Given the description of an element on the screen output the (x, y) to click on. 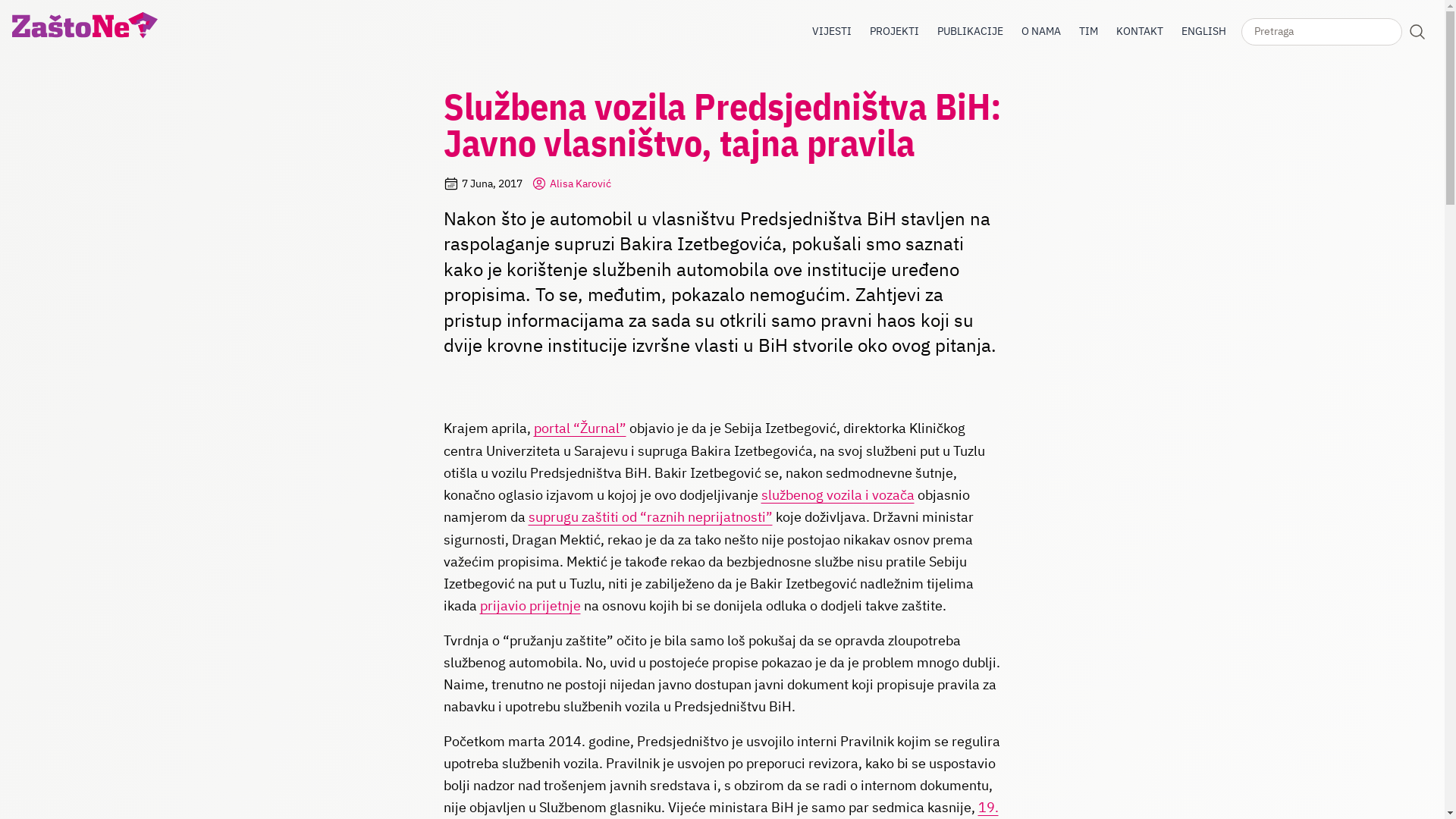
PUBLIKACIJE Element type: text (970, 30)
PROJEKTI Element type: text (894, 30)
TIM Element type: text (1088, 30)
prijavio prijetnje Element type: text (529, 605)
KONTAKT Element type: text (1139, 30)
O NAMA Element type: text (1040, 30)
ENGLISH Element type: text (1203, 31)
Pretraga Element type: text (1417, 31)
VIJESTI Element type: text (831, 30)
